Given the description of an element on the screen output the (x, y) to click on. 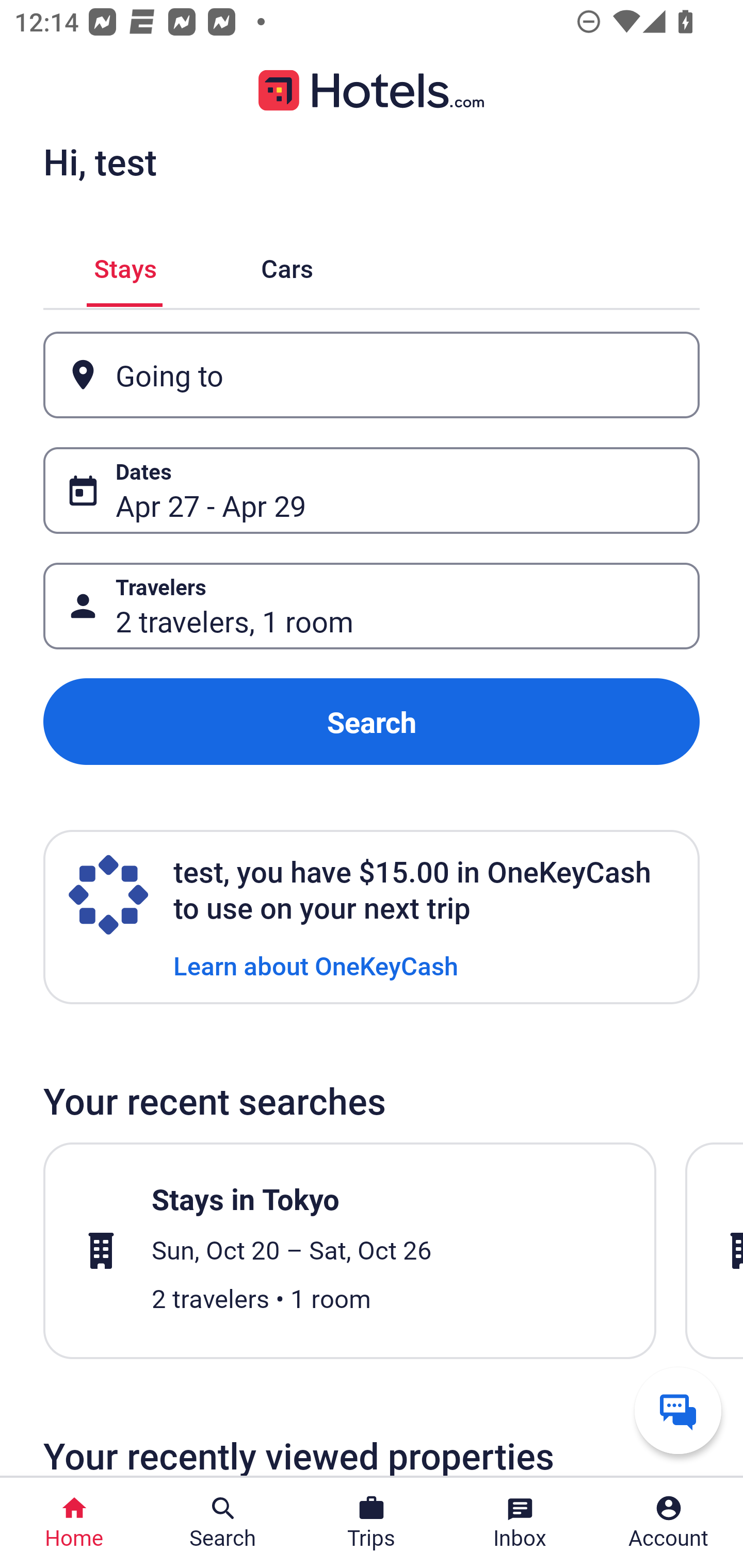
Hi, test (99, 161)
Cars (286, 265)
Going to Button (371, 375)
Dates Button Apr 27 - Apr 29 (371, 489)
Travelers Button 2 travelers, 1 room (371, 605)
Search (371, 721)
Learn about OneKeyCash Learn about OneKeyCash Link (315, 964)
Get help from a virtual agent (677, 1410)
Search Search Button (222, 1522)
Trips Trips Button (371, 1522)
Inbox Inbox Button (519, 1522)
Account Profile. Button (668, 1522)
